Given the description of an element on the screen output the (x, y) to click on. 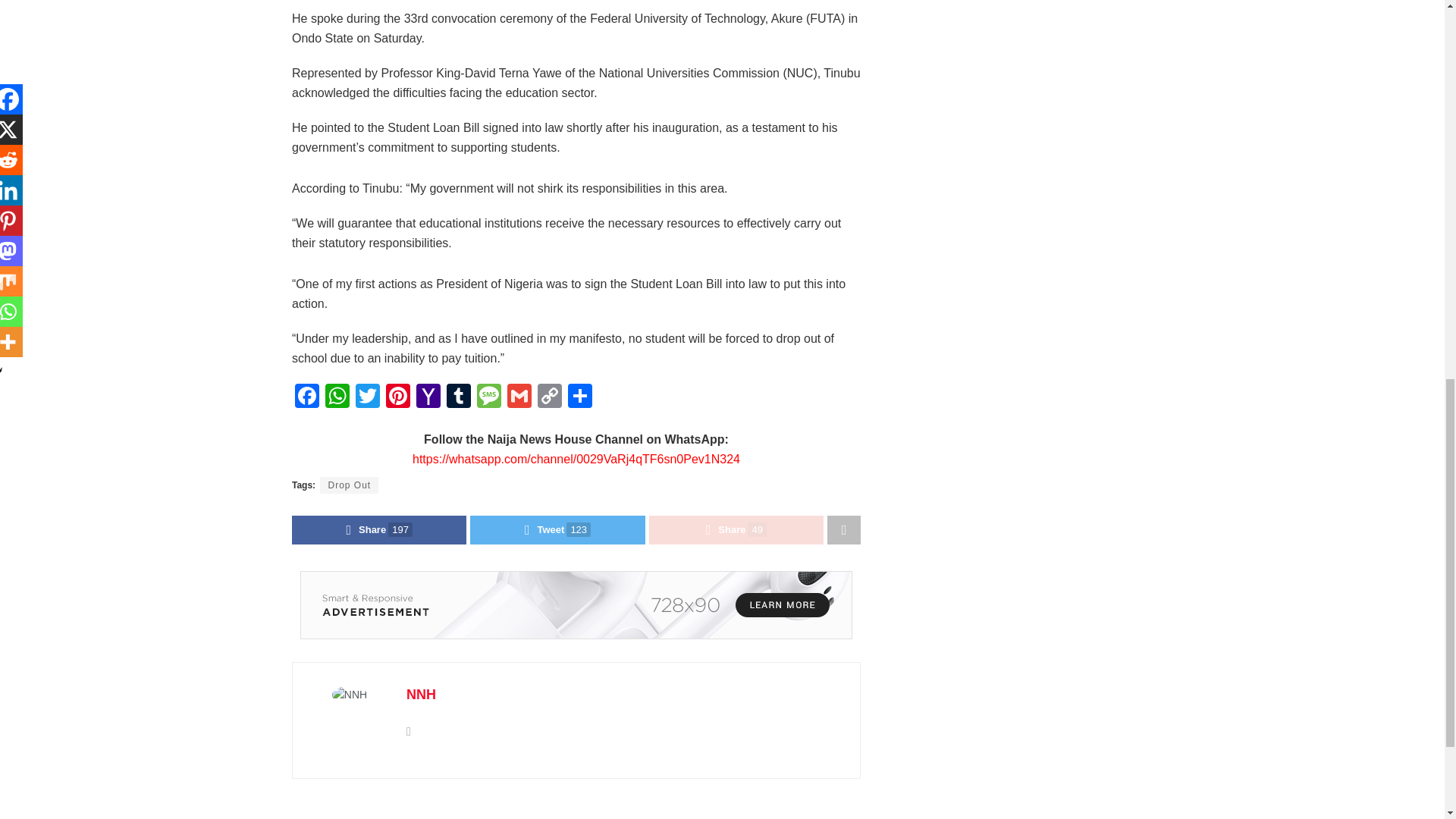
WhatsApp (336, 397)
Pinterest (397, 397)
Facebook (306, 397)
Twitter (367, 397)
